Given the description of an element on the screen output the (x, y) to click on. 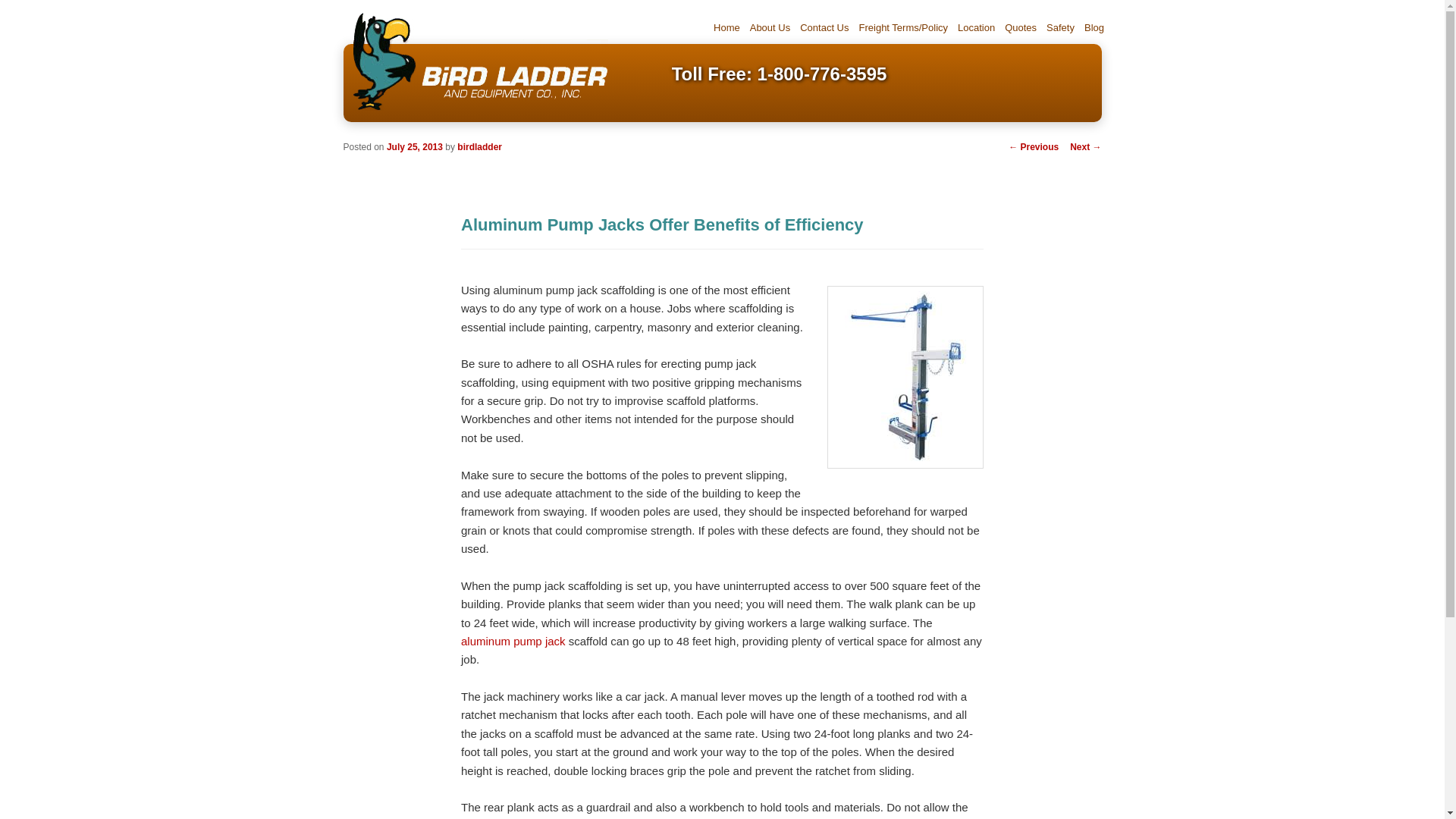
aluminum pump jack (513, 640)
View all posts by birdladder (479, 146)
About Us (769, 27)
Bird Ladder (474, 111)
Location (976, 27)
Contact Us (823, 27)
Bird Ladder (474, 61)
July 25, 2013 (414, 146)
10:22 am (414, 146)
Home (727, 27)
